Given the description of an element on the screen output the (x, y) to click on. 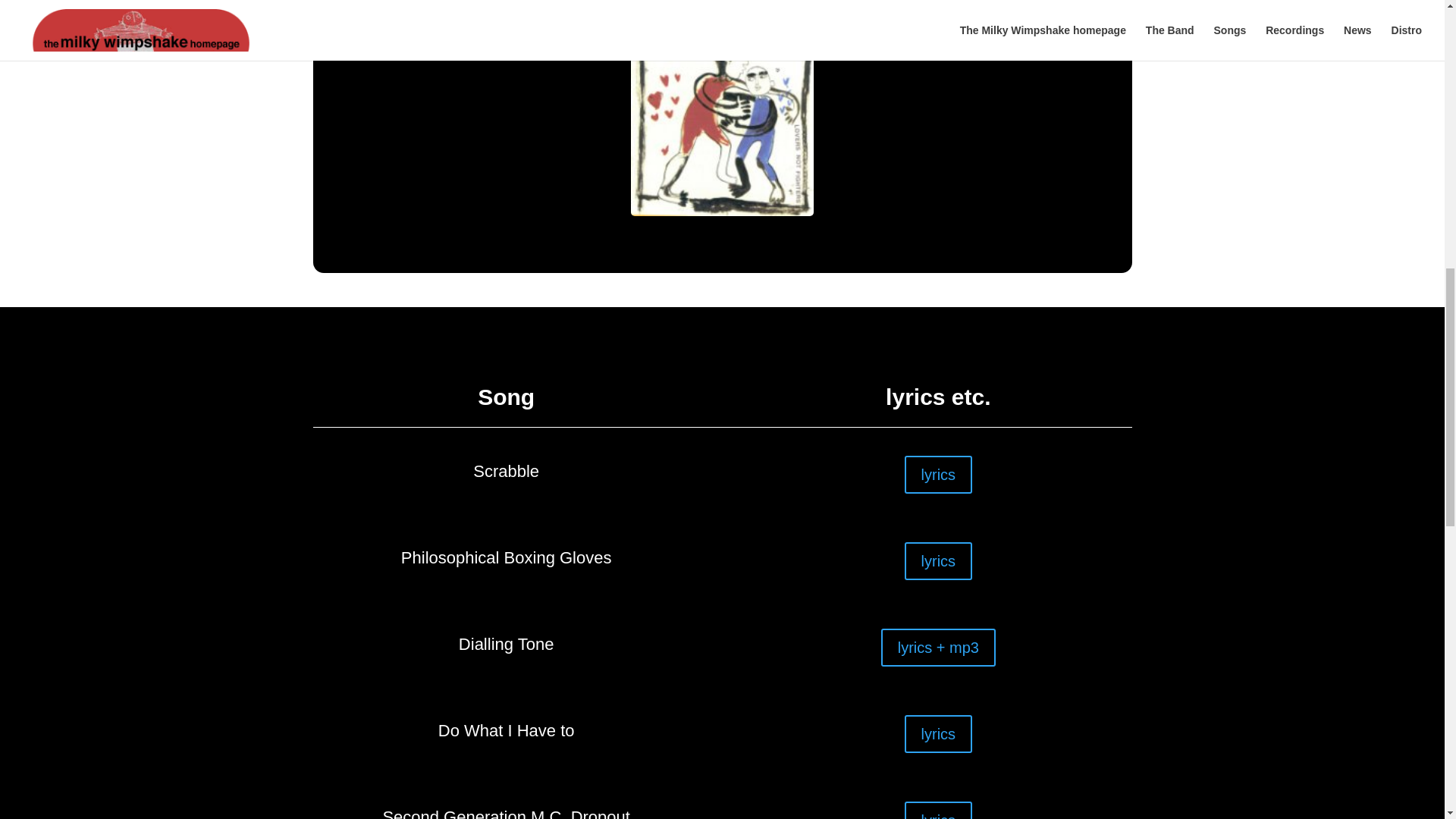
lyrics (938, 810)
lyrics (938, 733)
lyrics (938, 474)
lyrics (938, 560)
